Given the description of an element on the screen output the (x, y) to click on. 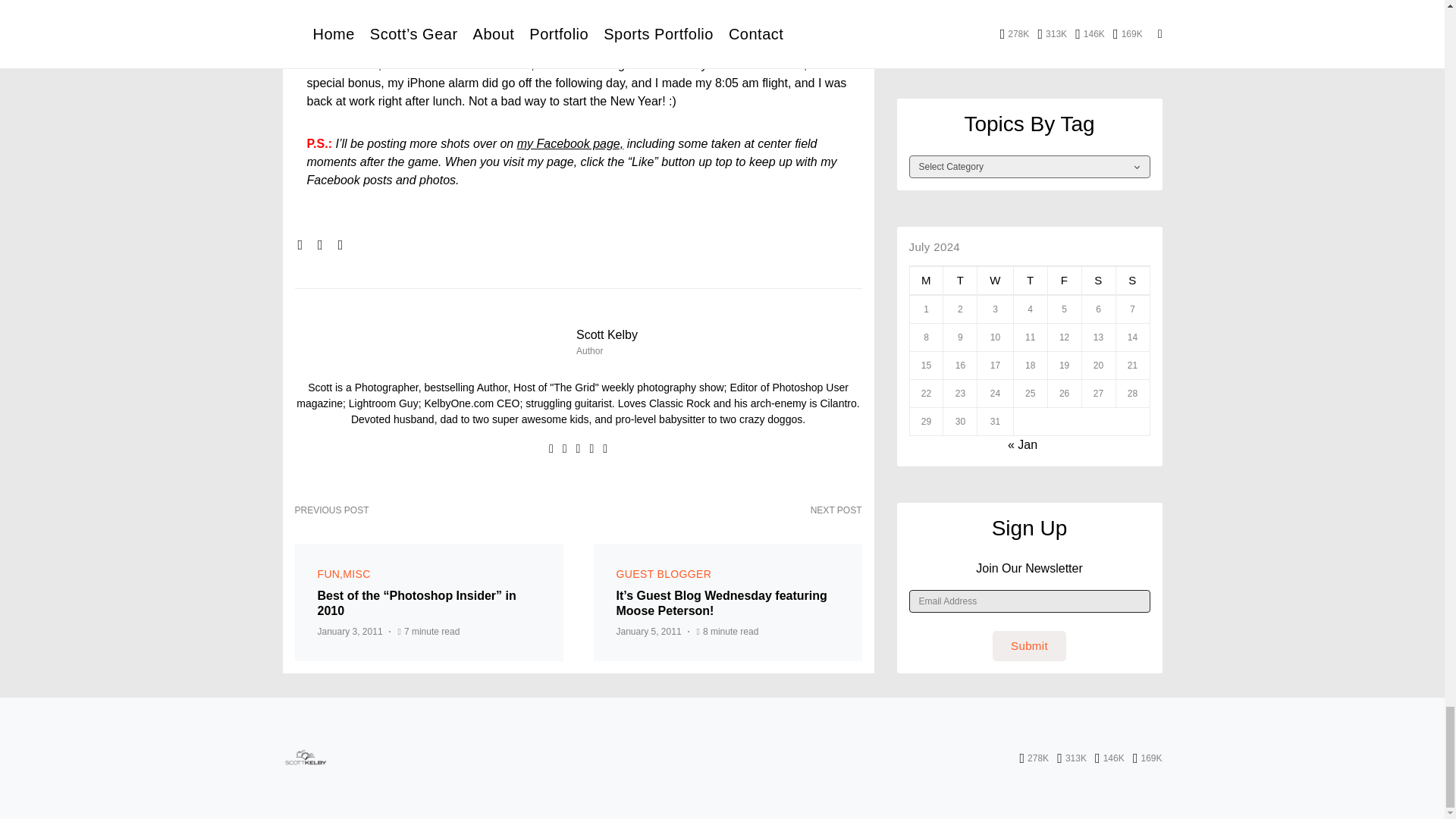
ColtTitans2sm (495, 6)
